Given the description of an element on the screen output the (x, y) to click on. 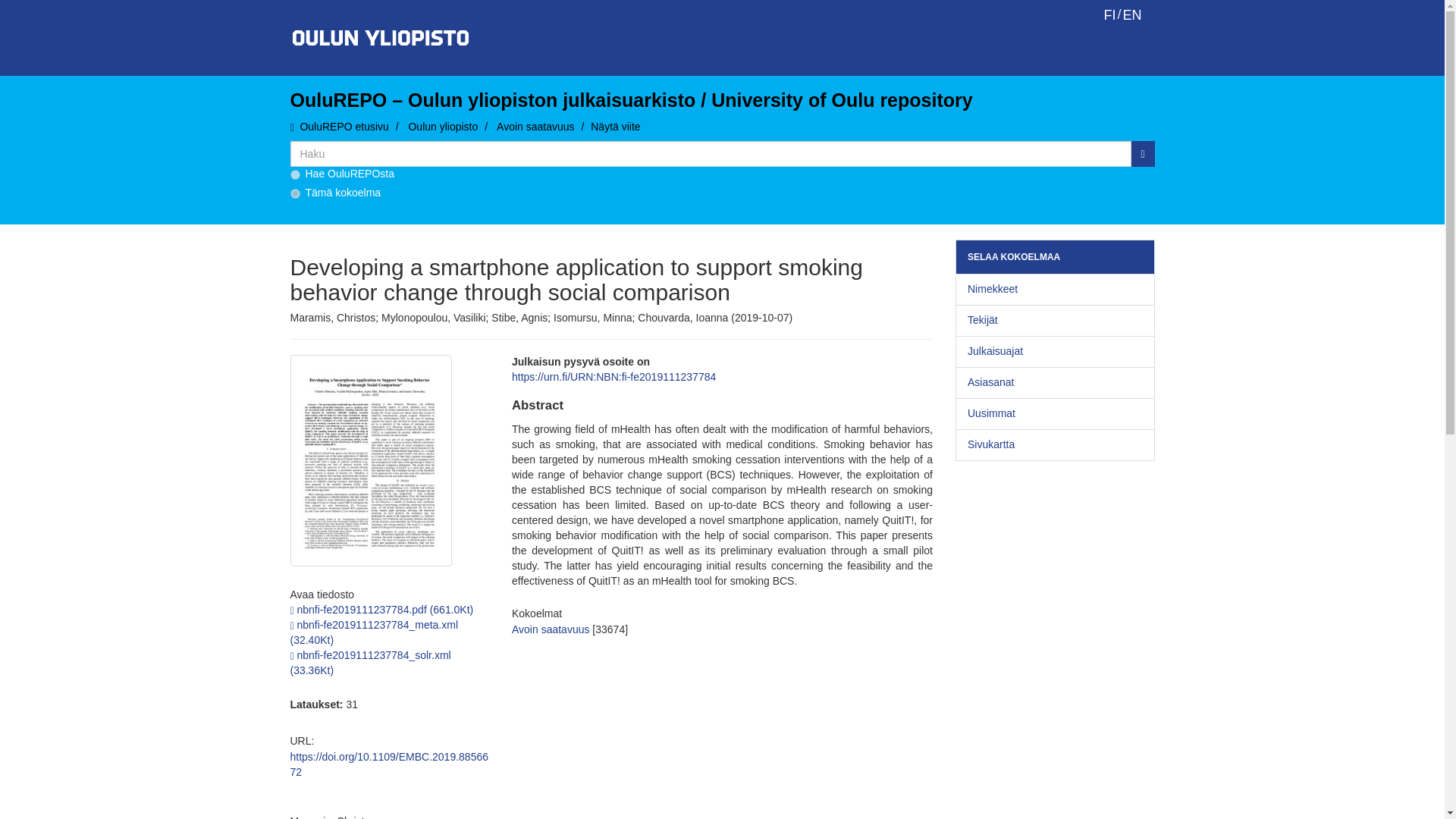
Oulun yliopisto (442, 126)
Nimekkeet (1054, 289)
Julkaisuajat (1054, 351)
Avoin saatavuus (534, 126)
Hae (1142, 153)
Avoin saatavuus (550, 629)
OuluREPO etusivu (343, 126)
